Given the description of an element on the screen output the (x, y) to click on. 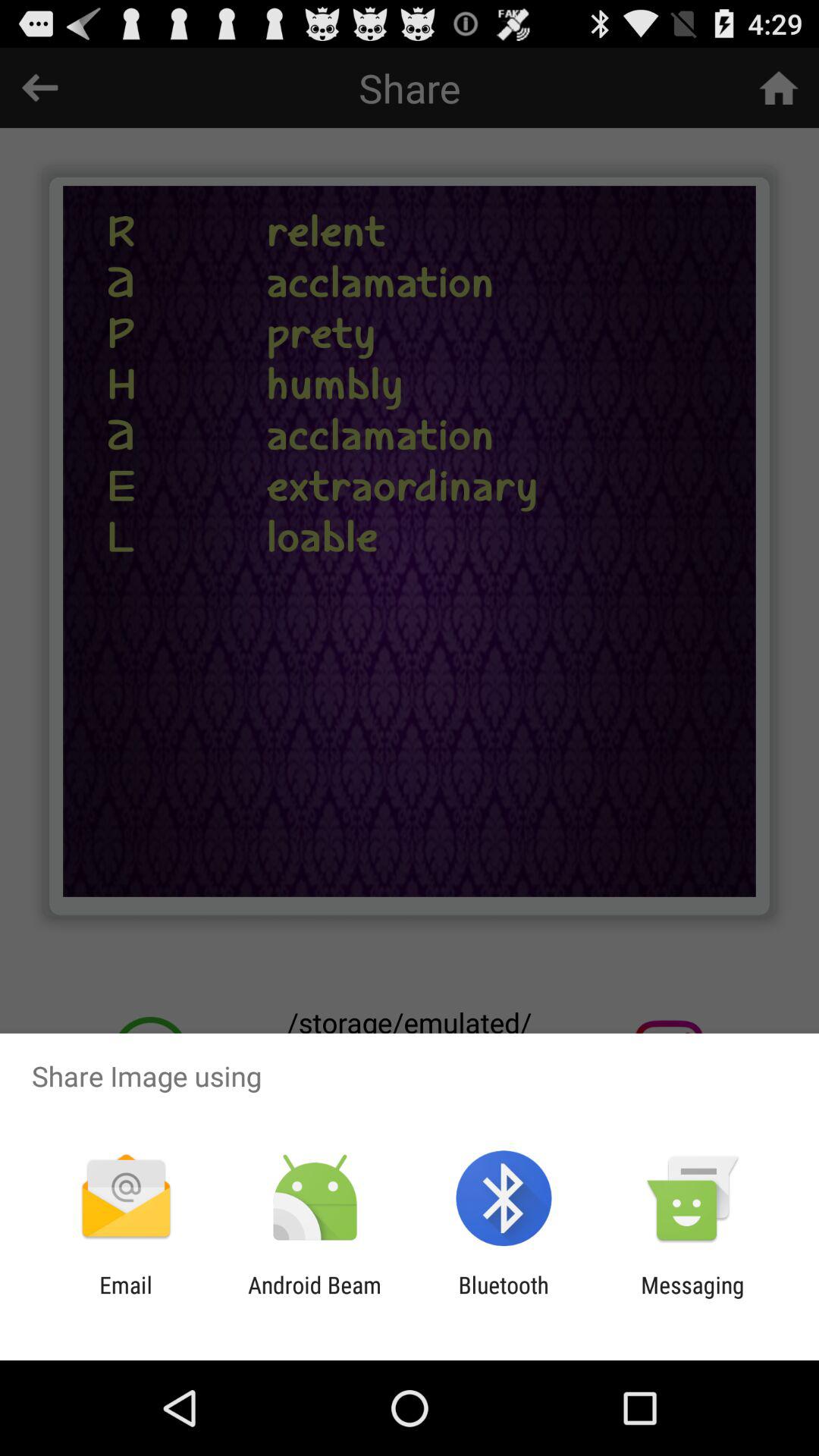
turn off icon next to the android beam app (503, 1298)
